Given the description of an element on the screen output the (x, y) to click on. 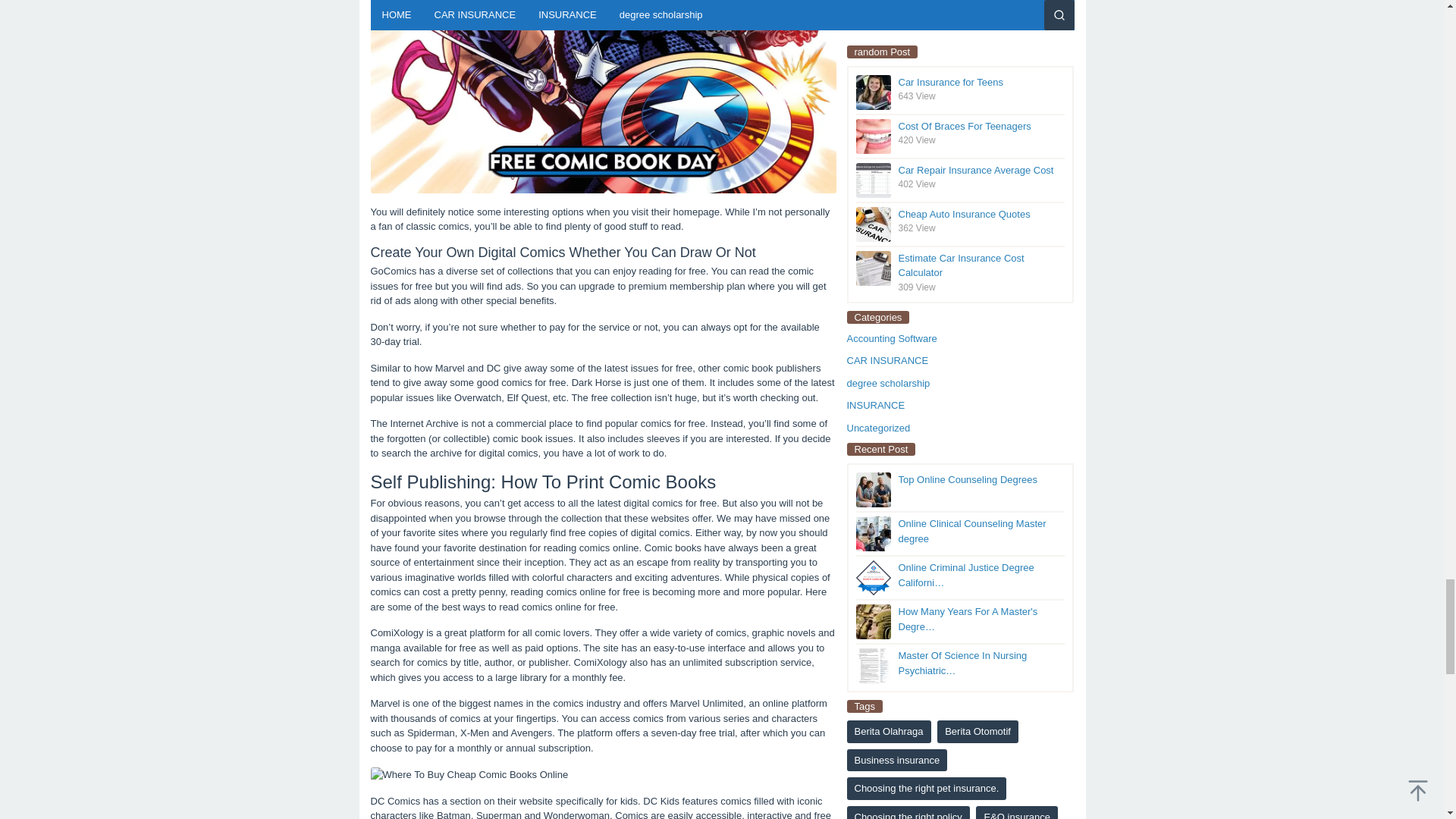
Where To Buy Cheap Comic Books Online (468, 774)
Where To Buy Cheap Comic Books Online (602, 96)
